Given the description of an element on the screen output the (x, y) to click on. 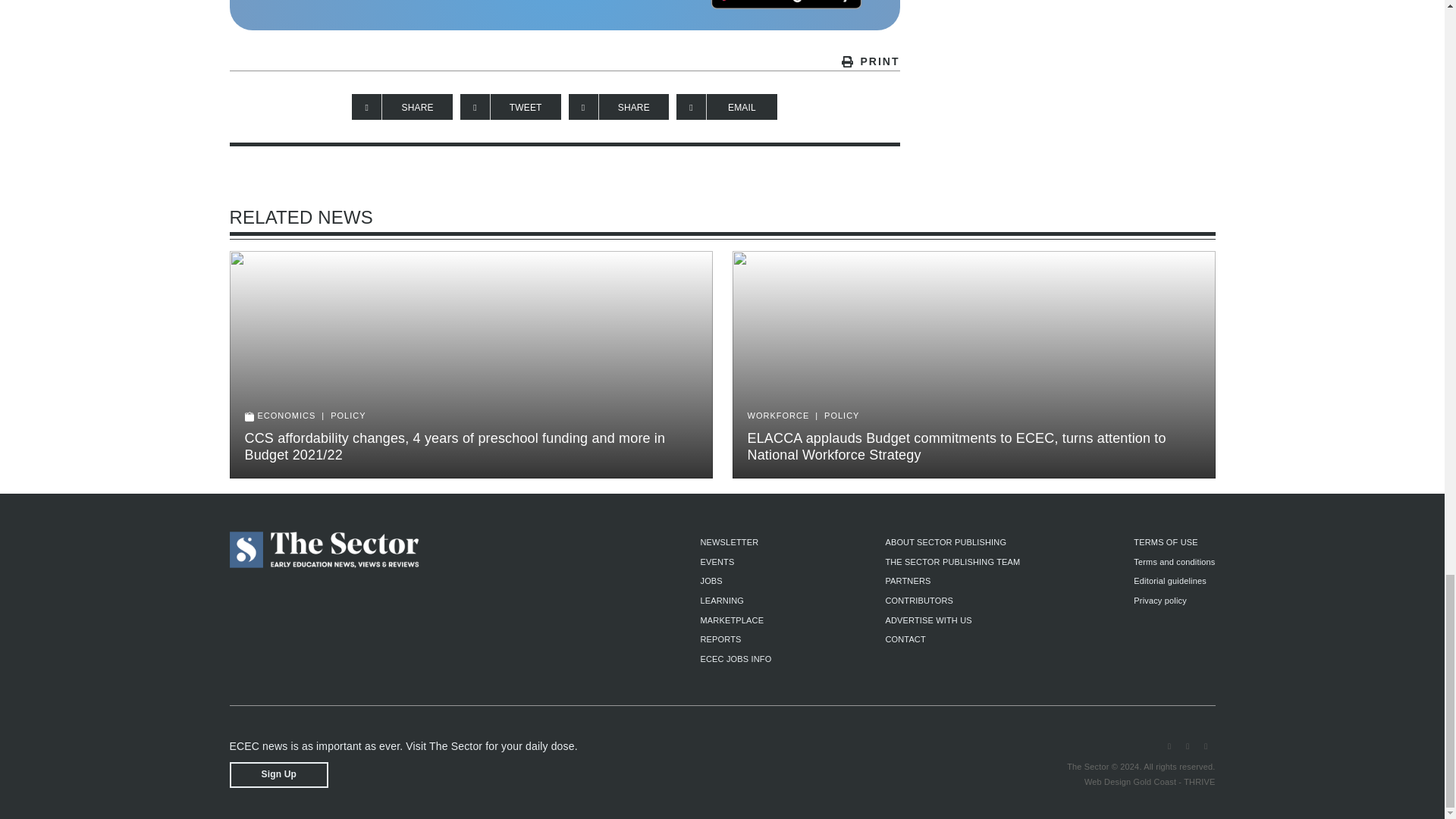
Share on LinkedIn (619, 106)
Share on Facebook (402, 106)
Tweet (510, 106)
Web Design Gold Coast (1130, 781)
Share on Email (727, 106)
